Given the description of an element on the screen output the (x, y) to click on. 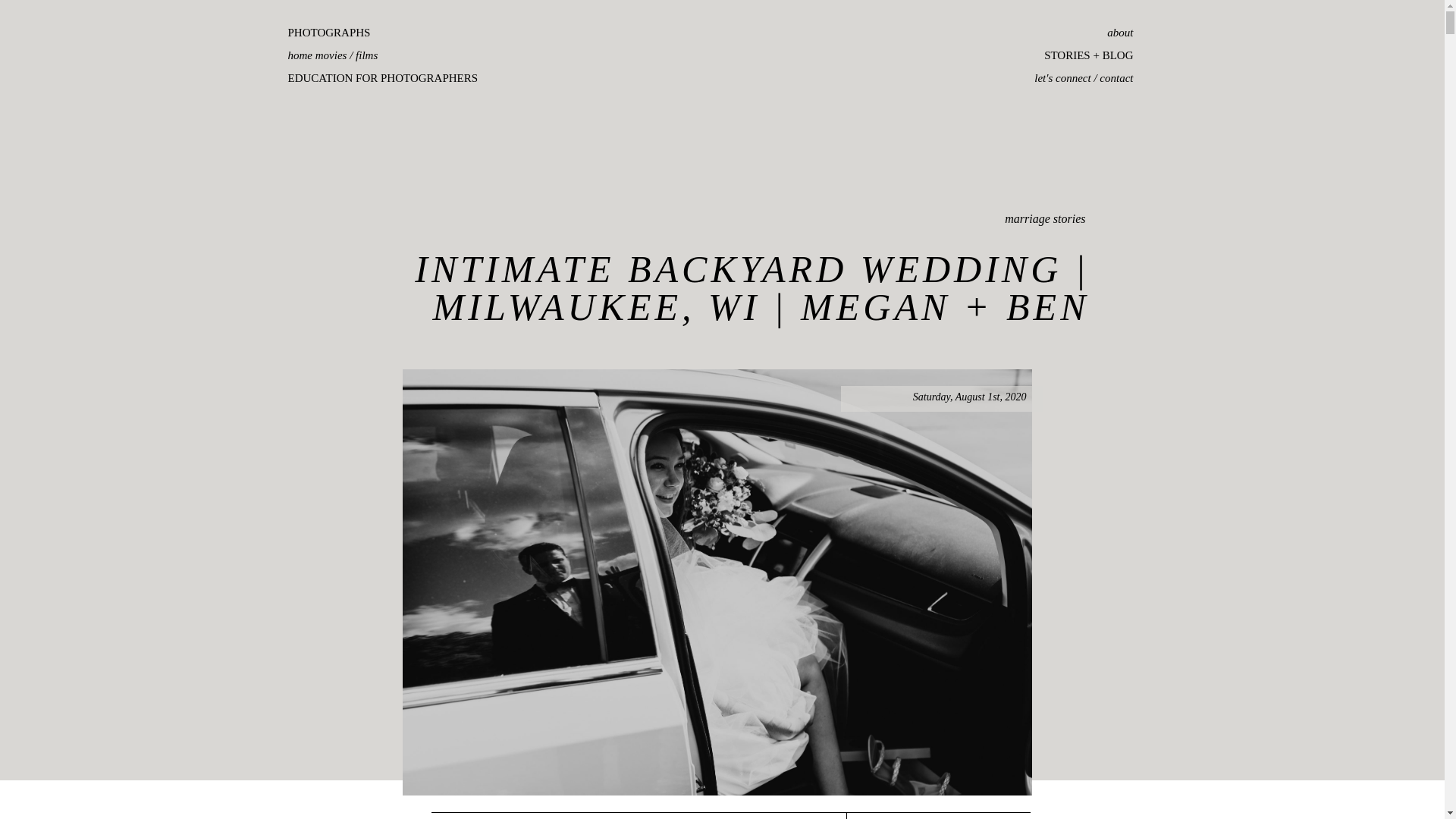
about (1051, 35)
PHOTOGRAPHS (411, 35)
EDUCATION FOR PHOTOGRAPHERS (411, 80)
marriage stories (1044, 218)
